Given the description of an element on the screen output the (x, y) to click on. 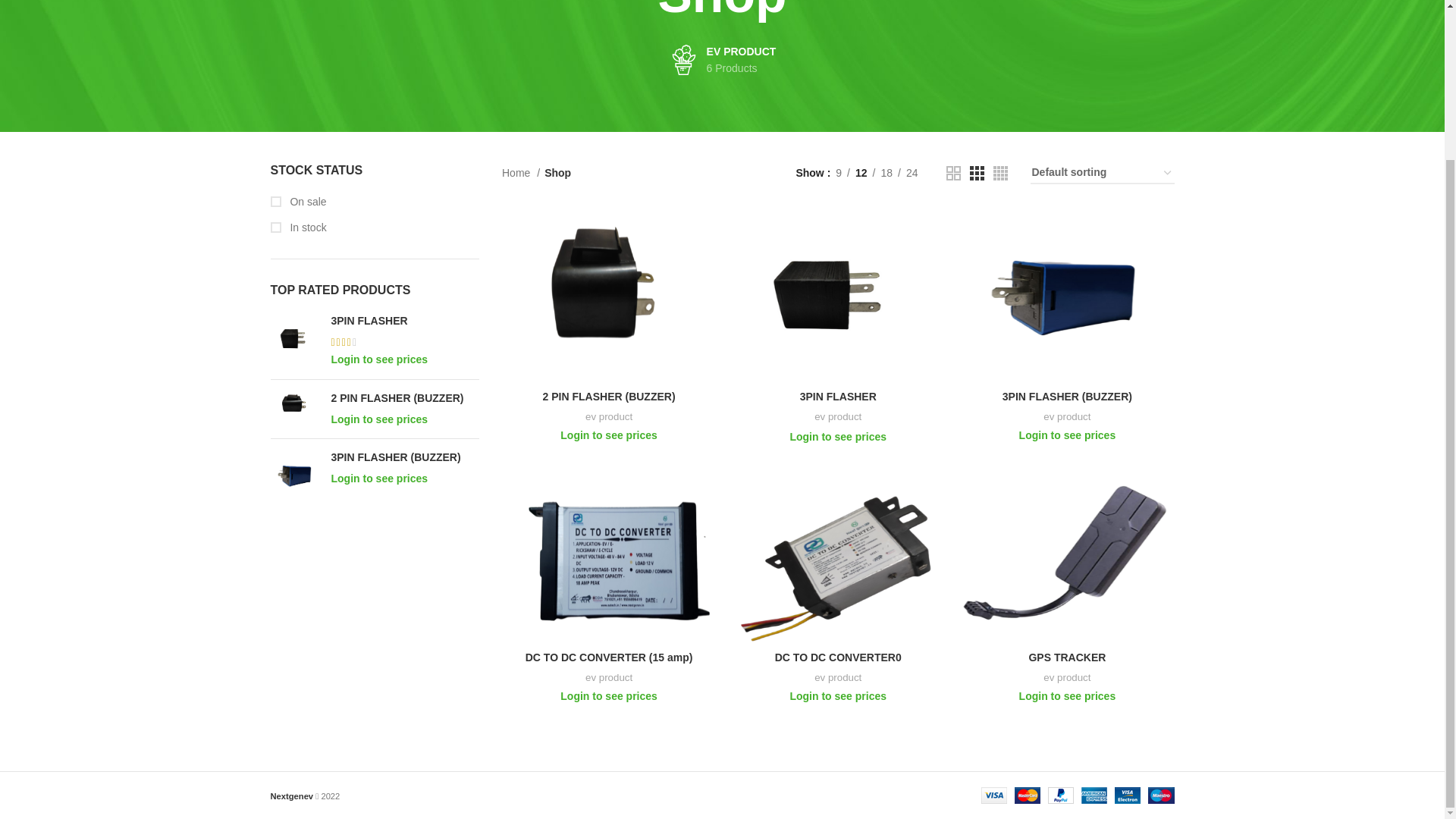
Login to see prices (379, 419)
Login to see prices (379, 358)
In stock (374, 227)
3PIN FLASHER (404, 321)
Login to see prices (379, 478)
12 (861, 172)
On sale (722, 59)
cat-flower (374, 201)
3PIN FLASHER (683, 60)
24 (404, 321)
9 (912, 172)
18 (838, 172)
Home (886, 172)
3PIN FLASHER (521, 172)
